Given the description of an element on the screen output the (x, y) to click on. 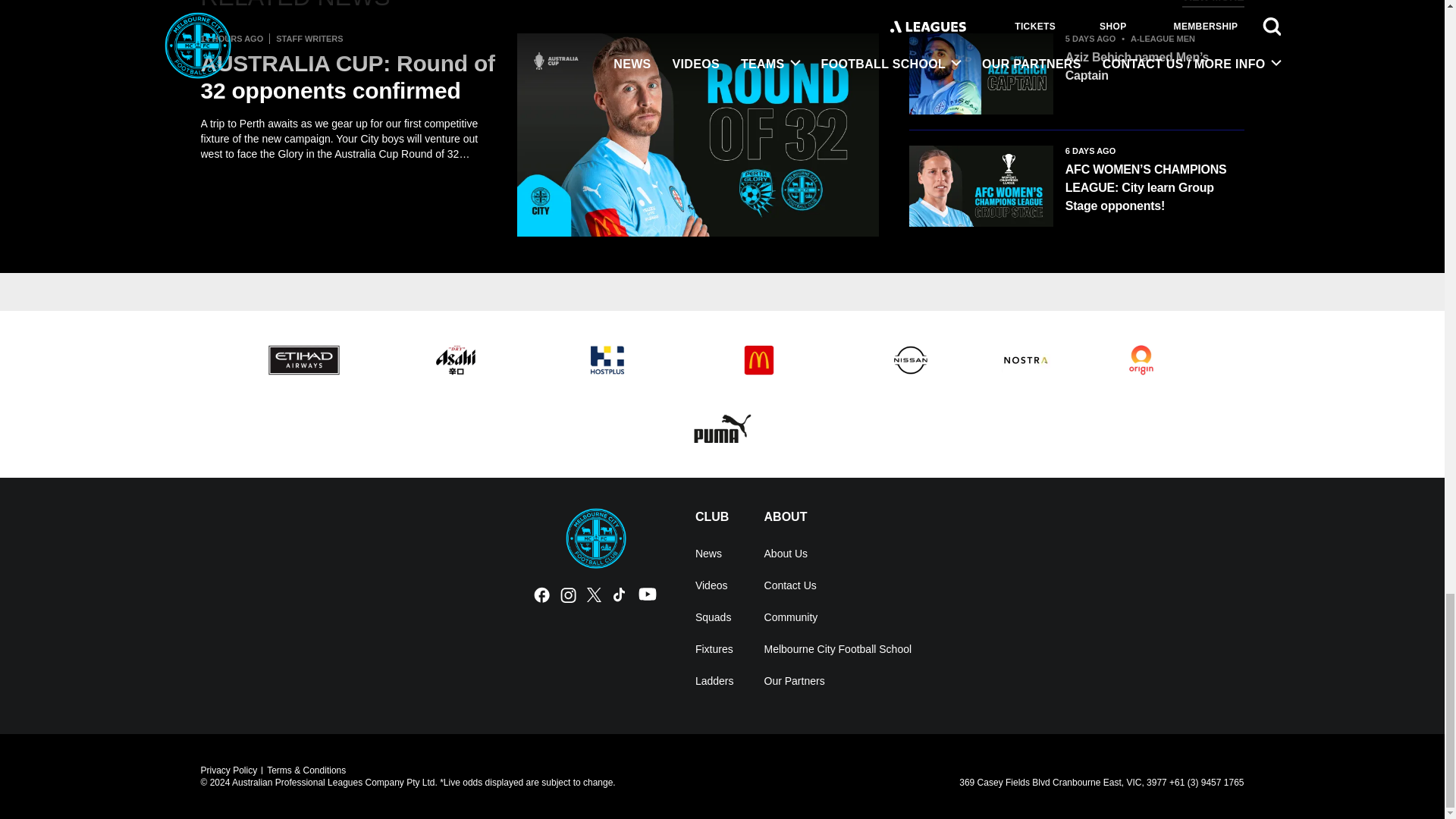
PUMA (722, 428)
Origin (1140, 360)
Nostra (1025, 360)
Nissan (909, 360)
Hostplus (606, 360)
Asahi Super Dry (454, 360)
Etihad Airways (303, 360)
